Given the description of an element on the screen output the (x, y) to click on. 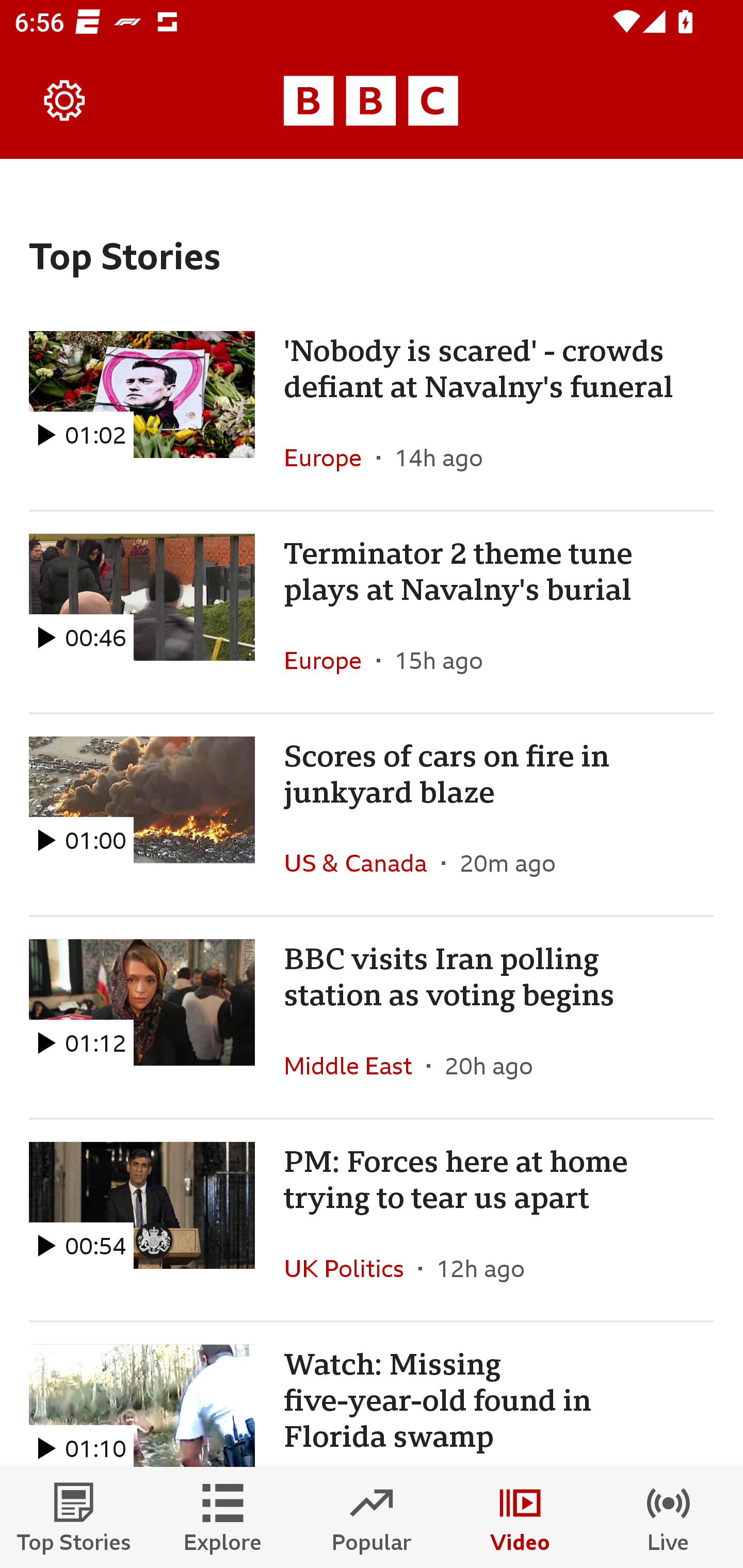
Settings (64, 100)
Europe In the section Europe (329, 457)
Europe In the section Europe (329, 659)
US & Canada In the section US & Canada (362, 862)
Middle East In the section Middle East (354, 1064)
UK Politics In the section UK Politics (350, 1268)
Top Stories (74, 1517)
Explore (222, 1517)
Popular (371, 1517)
Live (668, 1517)
